Given the description of an element on the screen output the (x, y) to click on. 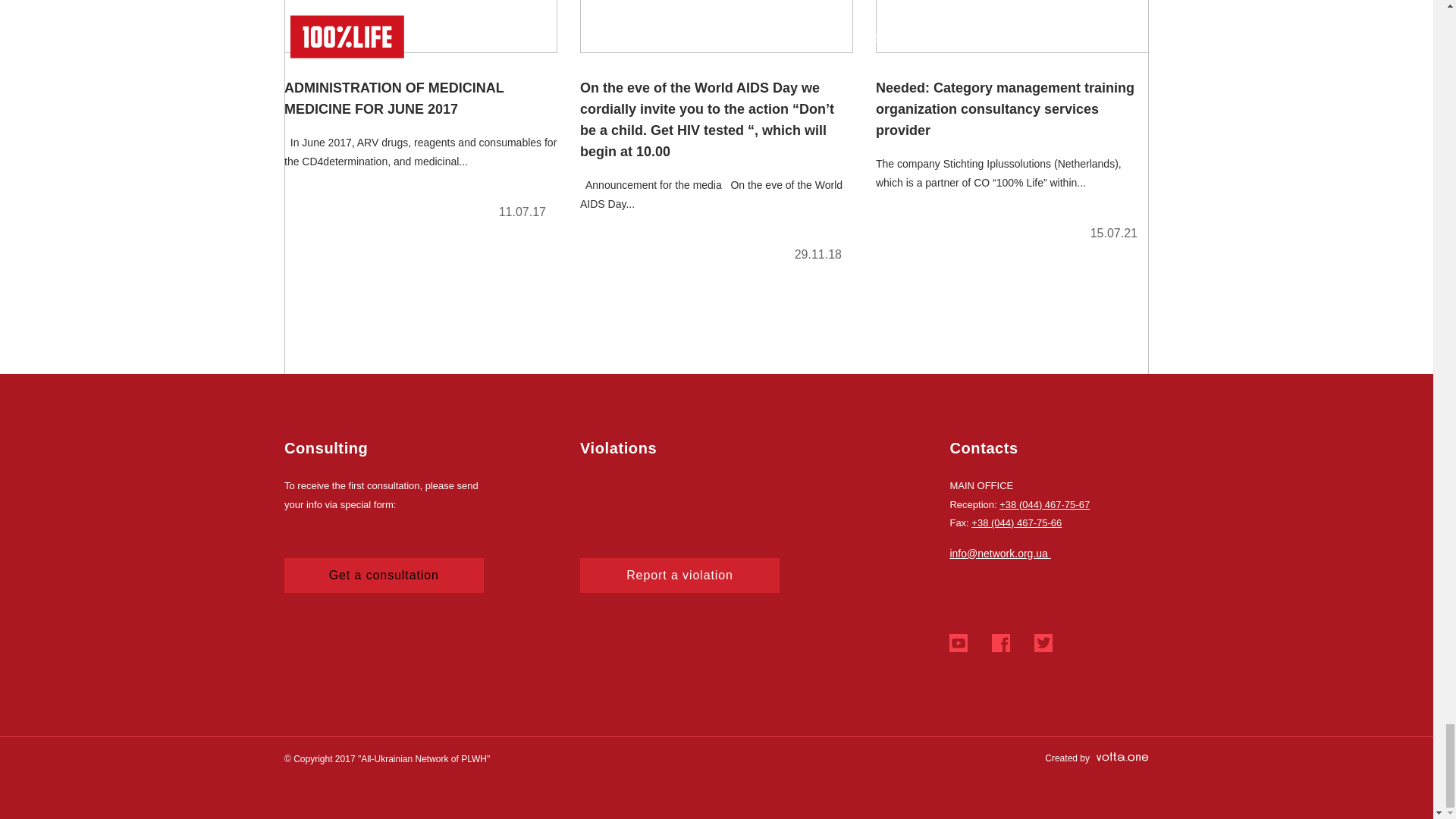
Report a violation (678, 574)
Get a consultation (383, 574)
Report a violation (678, 574)
ADMINISTRATION OF MEDICINAL MEDICINE FOR JUNE 2017 (420, 116)
Created by (1096, 757)
Get a consultation (383, 574)
